Given the description of an element on the screen output the (x, y) to click on. 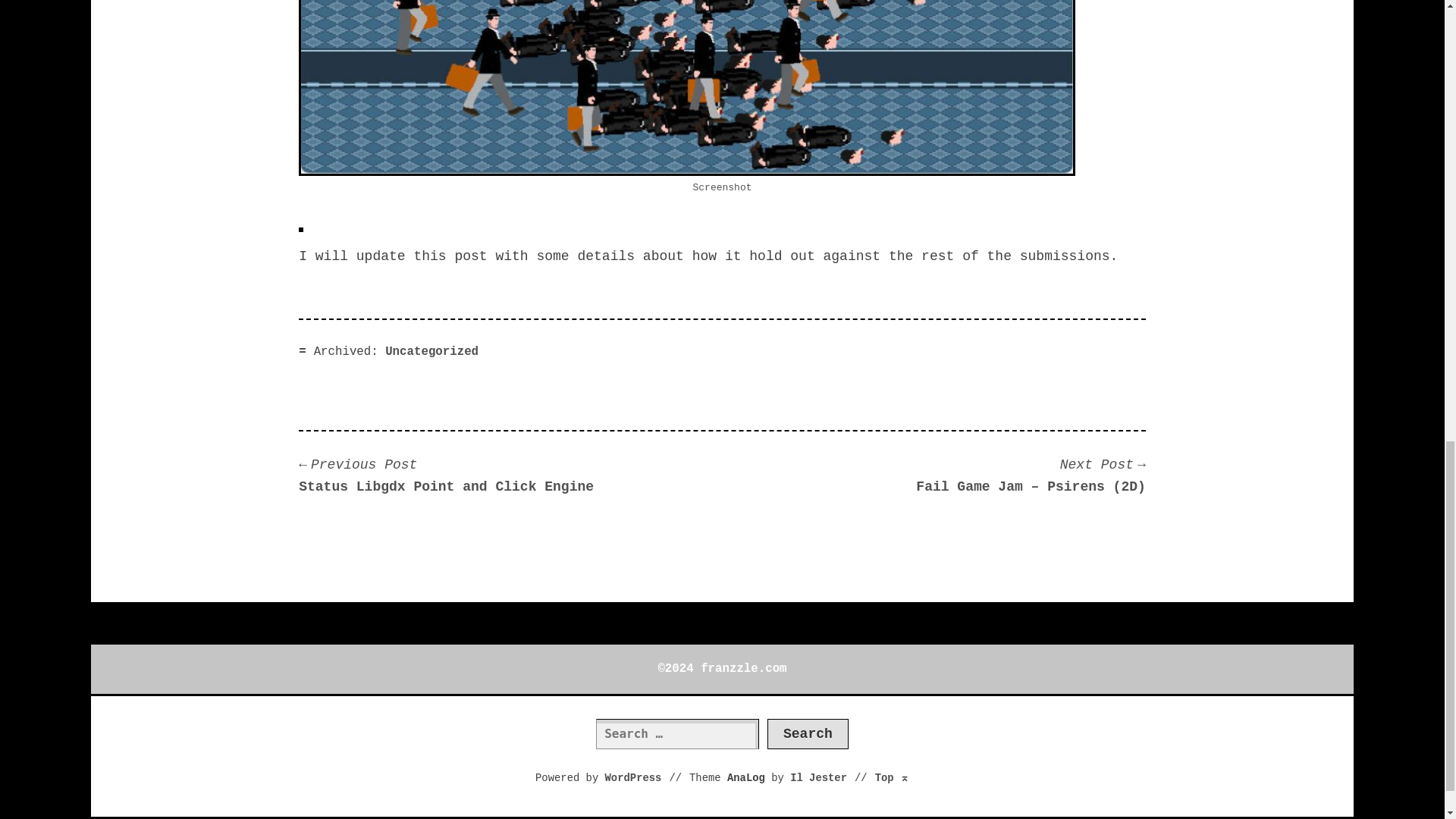
Search (807, 734)
Search (807, 734)
Il Jester (818, 777)
Uncategorized (432, 351)
WordPress (633, 777)
Search (807, 734)
